Given the description of an element on the screen output the (x, y) to click on. 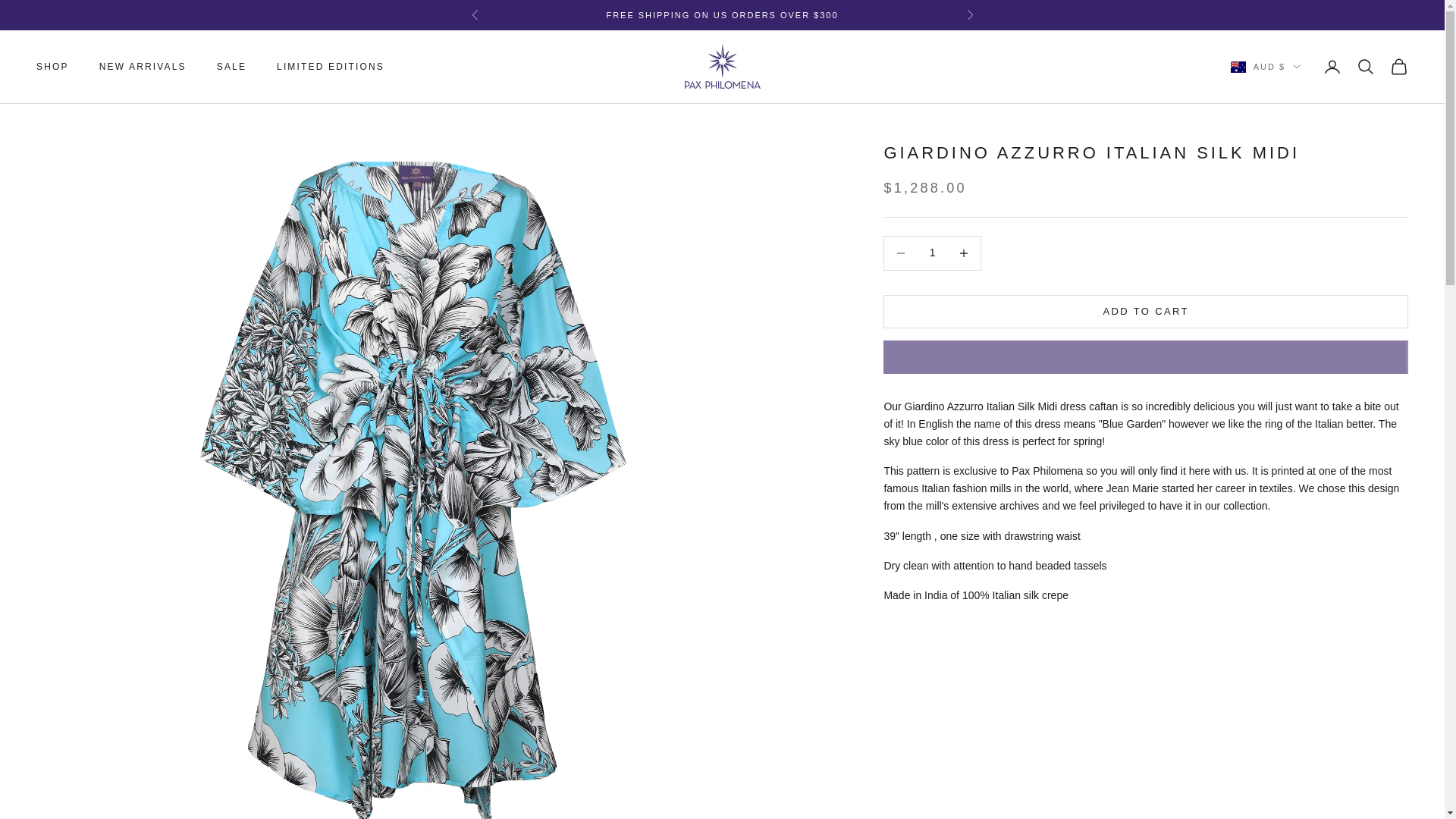
1 (932, 252)
PAX PHILOMENA (722, 66)
